Given the description of an element on the screen output the (x, y) to click on. 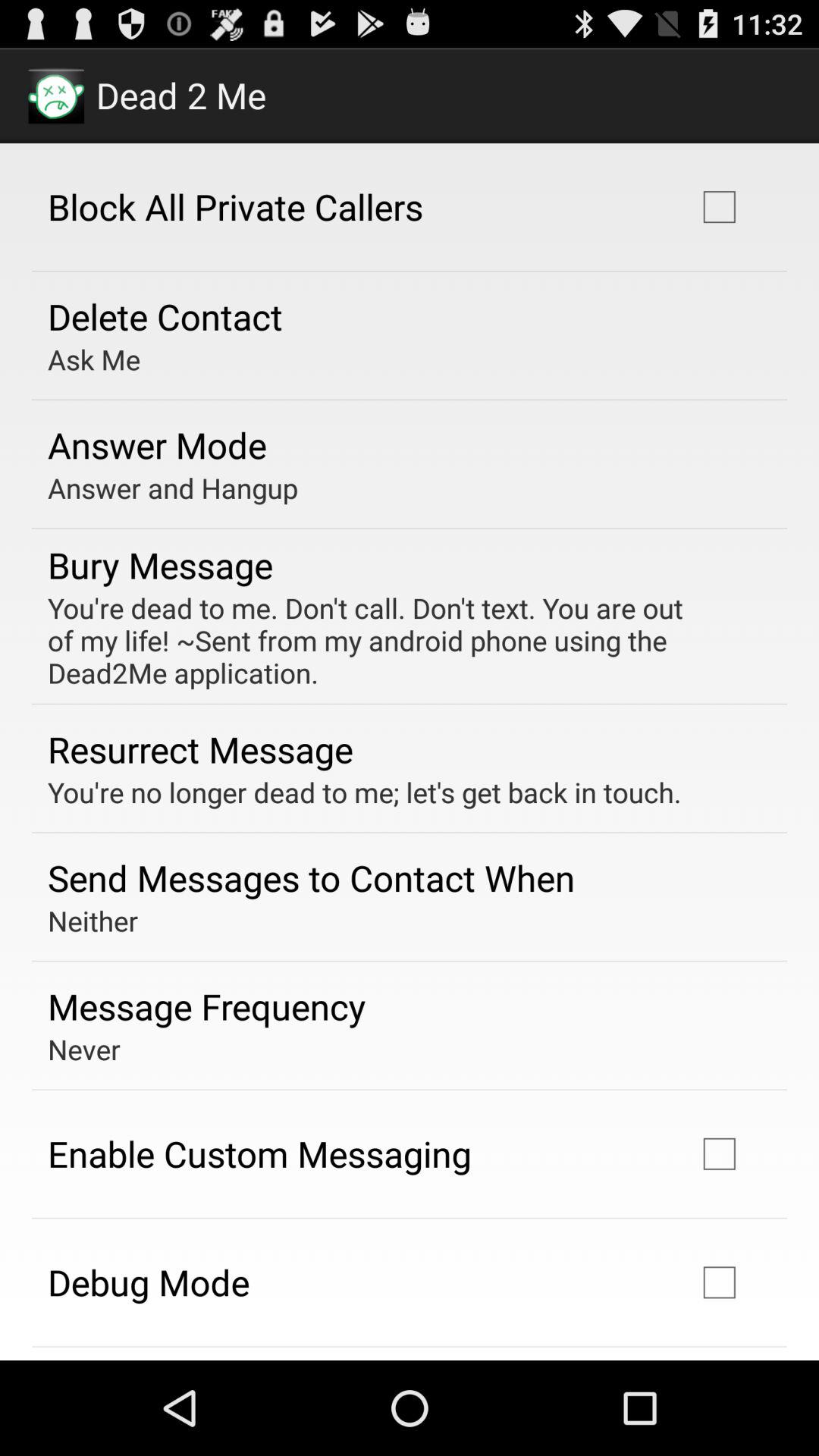
choose item above message frequency (92, 920)
